Given the description of an element on the screen output the (x, y) to click on. 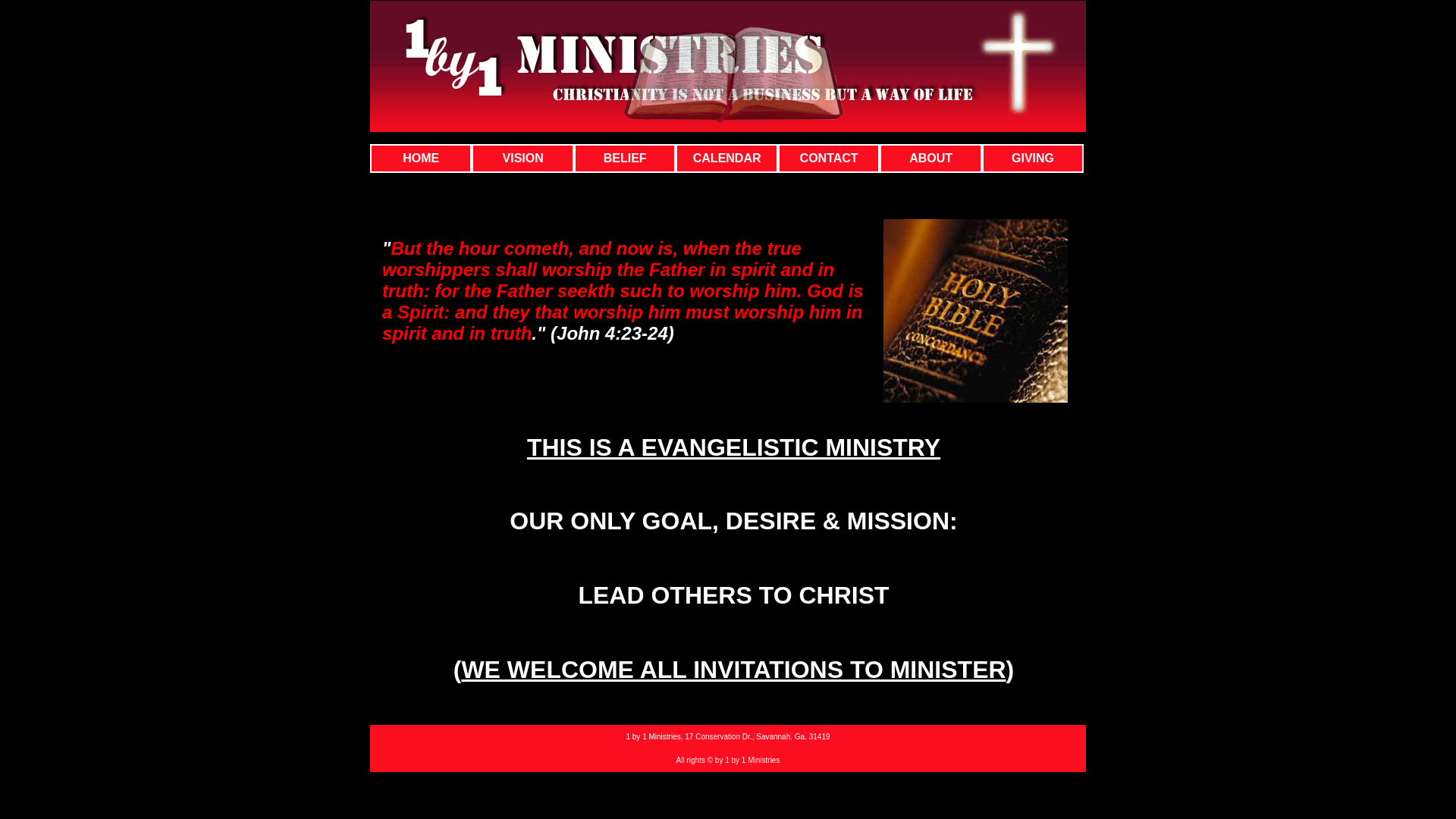
HOME Element type: text (420, 158)
CALENDAR Element type: text (726, 158)
GIVING Element type: text (1032, 158)
VISION Element type: text (522, 158)
CONTACT Element type: text (828, 158)
BELIEF Element type: text (624, 158)
ABOUT Element type: text (930, 158)
